Given the description of an element on the screen output the (x, y) to click on. 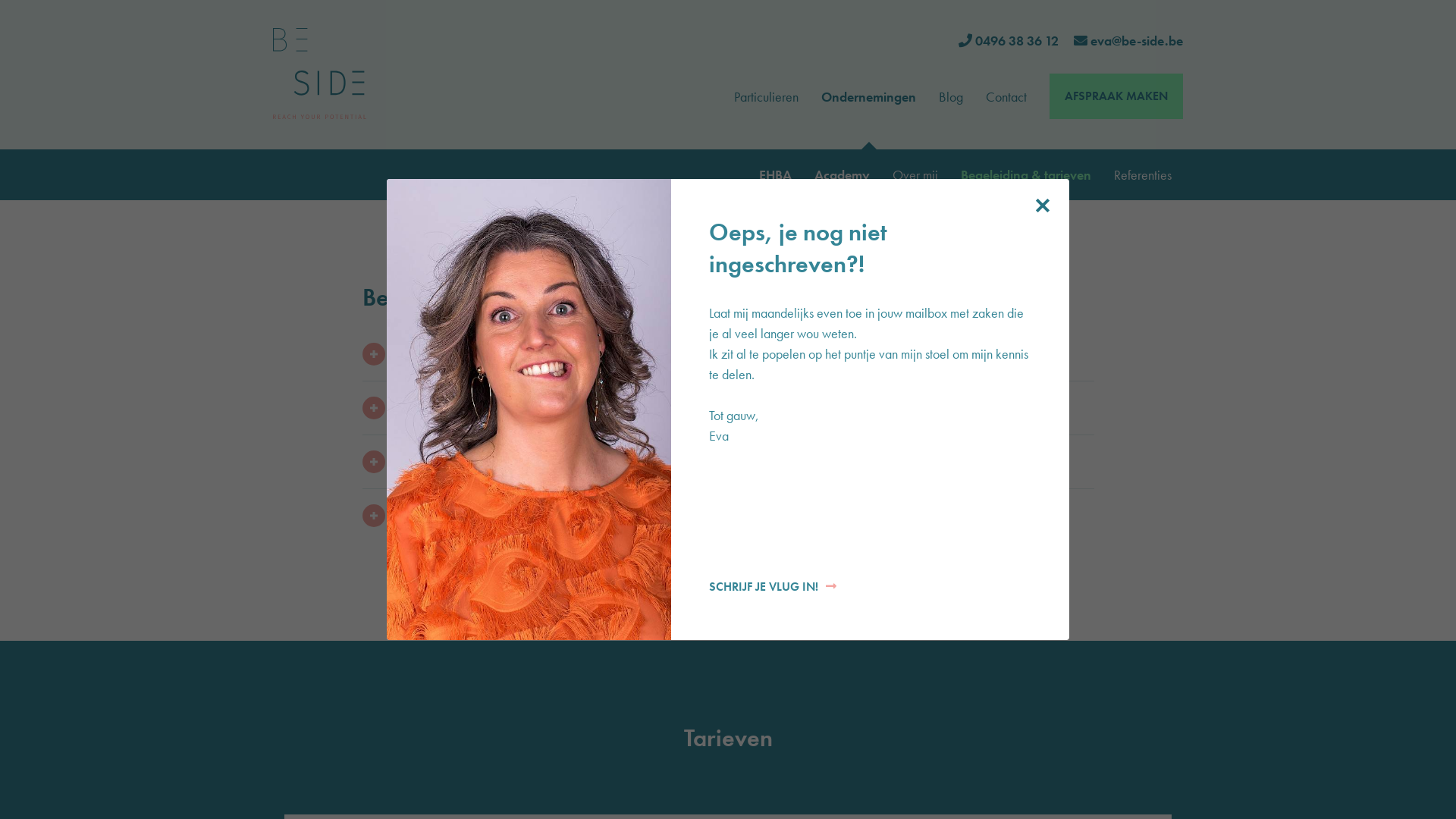
0496 38 36 12 Element type: text (1016, 40)
eva@be-side.be Element type: text (1136, 40)
One Stop Partner Element type: text (728, 407)
Ondernemingen Element type: text (868, 96)
Referenties Element type: text (1142, 174)
Investeren in wellbeing = win-win Element type: text (728, 515)
Particulieren Element type: text (766, 96)
Contact Element type: text (1005, 96)
AFSPRAAK MAKEN Element type: text (1116, 96)
Over mij Element type: text (915, 174)
SCHRIJF JE VLUG IN! Element type: text (772, 586)
Hoeveel kost een werknemer met teveel stress? Element type: text (728, 353)
Begeleiding & tarieven Element type: text (1025, 174)
Deze begeleiding is wetenschappelijk onderbouwd Element type: text (728, 461)
Academy Element type: text (841, 174)
Blog Element type: text (950, 96)
EHBA Element type: text (775, 174)
